Given the description of an element on the screen output the (x, y) to click on. 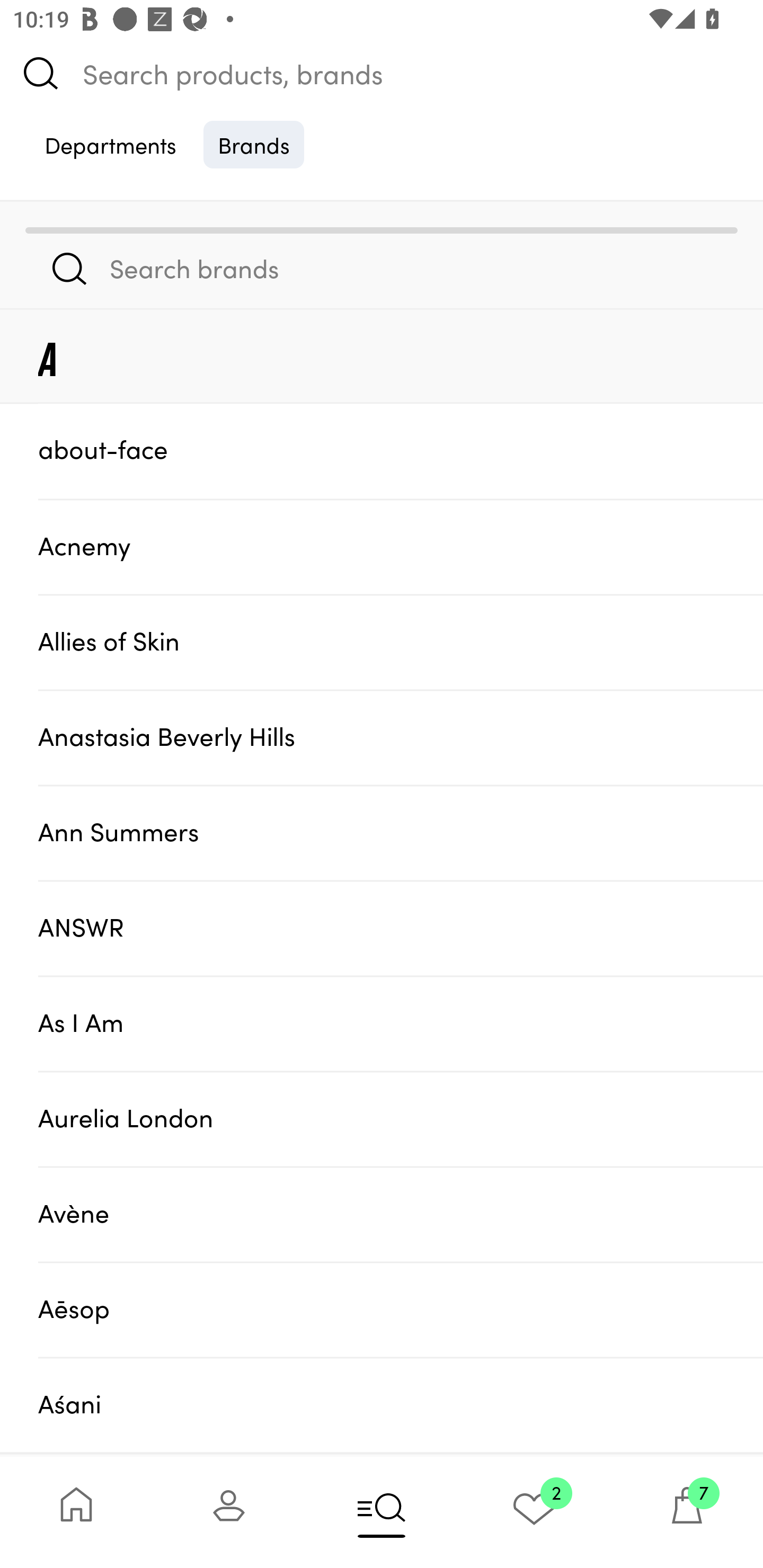
Search products, brands (381, 72)
Departments (110, 143)
Brands (253, 143)
about-face (400, 450)
Acnemy (400, 546)
Allies of Skin (400, 641)
Anastasia Beverly Hills (400, 737)
Ann Summers (400, 832)
ANSWR (400, 927)
As I Am (400, 1022)
Aurelia London (400, 1118)
Avène (400, 1214)
Aēsop (400, 1309)
Aśani (400, 1404)
2 (533, 1512)
7 (686, 1512)
